Given the description of an element on the screen output the (x, y) to click on. 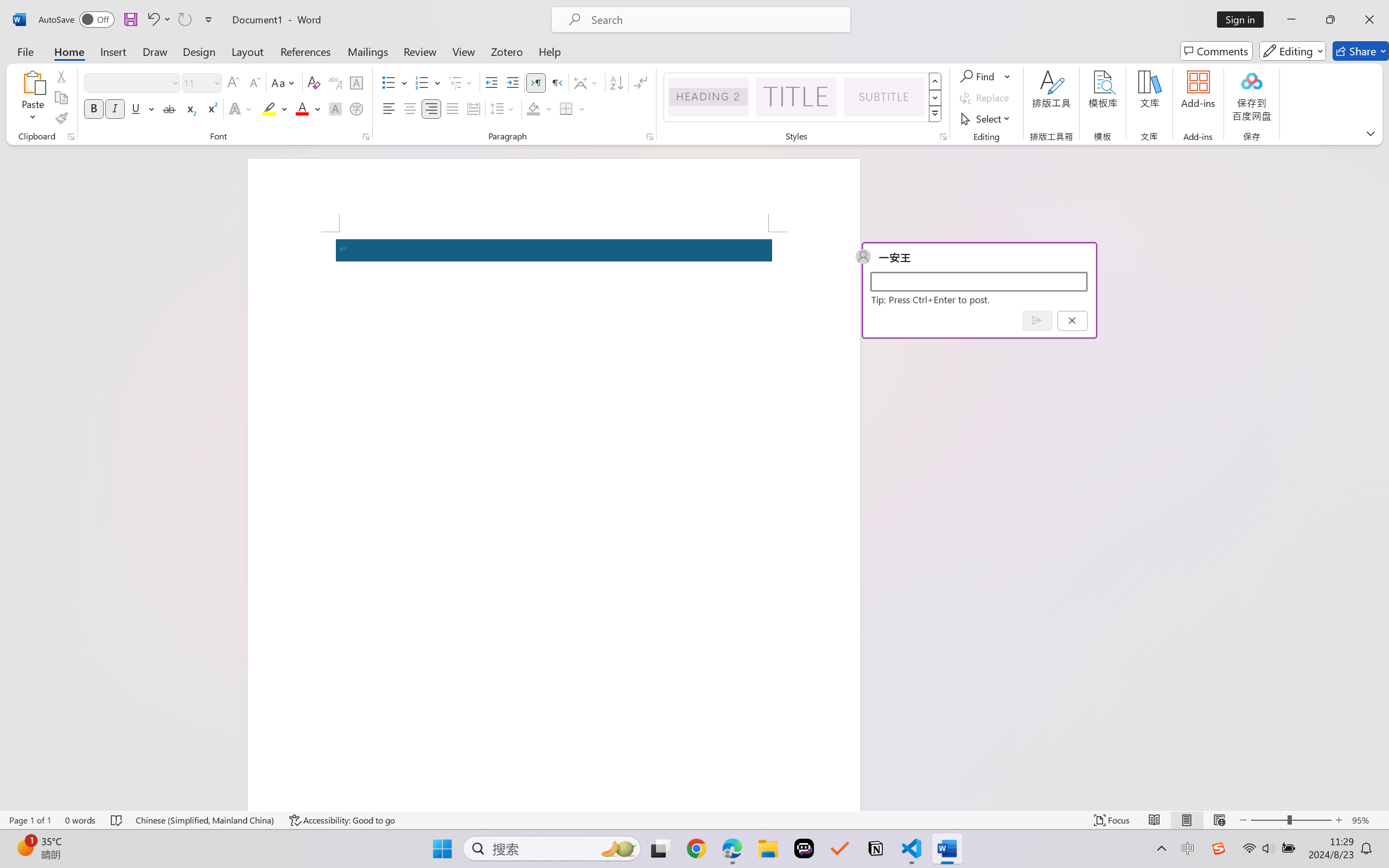
Left-to-Right (535, 82)
Undo (152, 19)
